Given the description of an element on the screen output the (x, y) to click on. 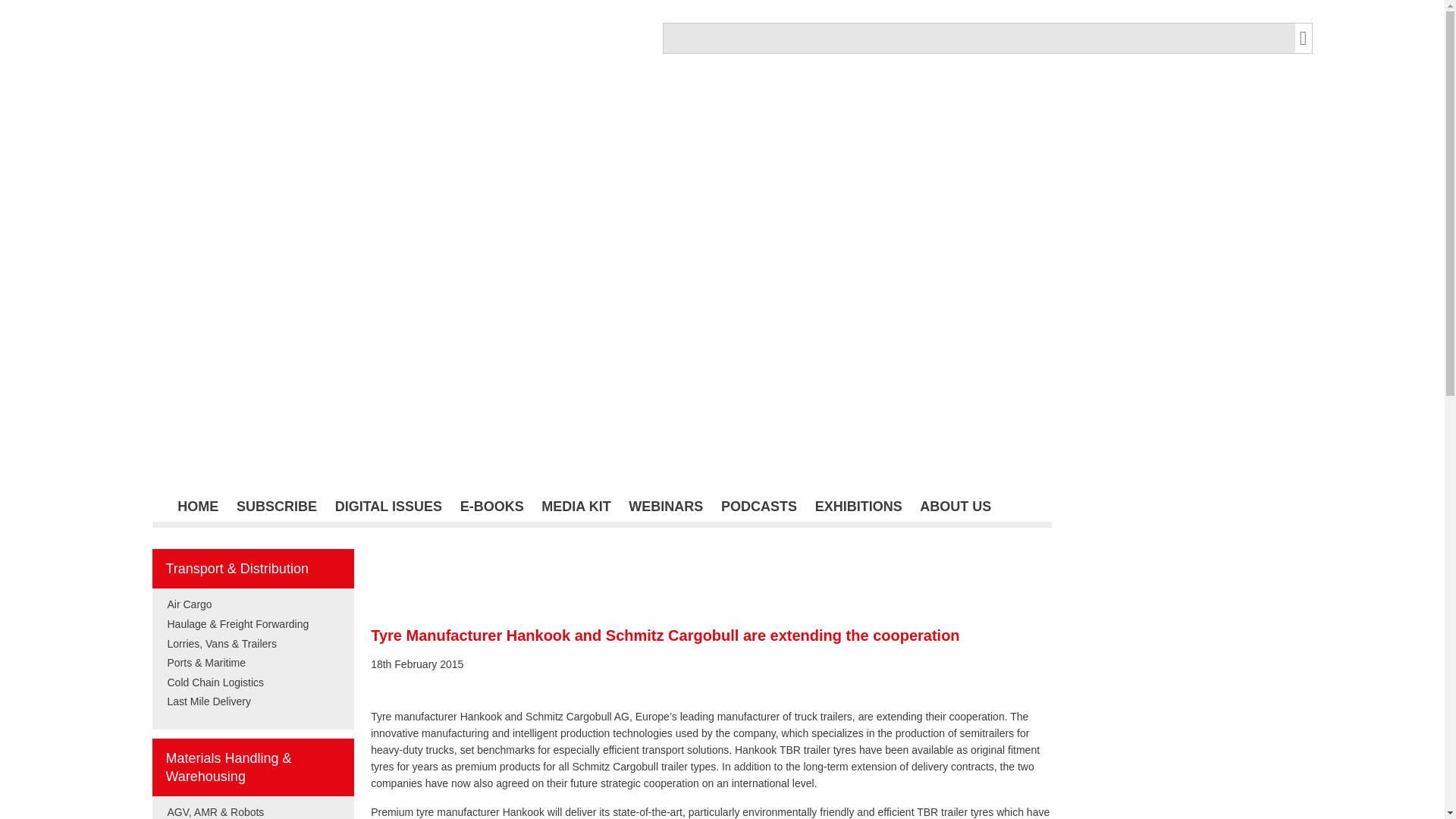
Search for: (978, 38)
